Given the description of an element on the screen output the (x, y) to click on. 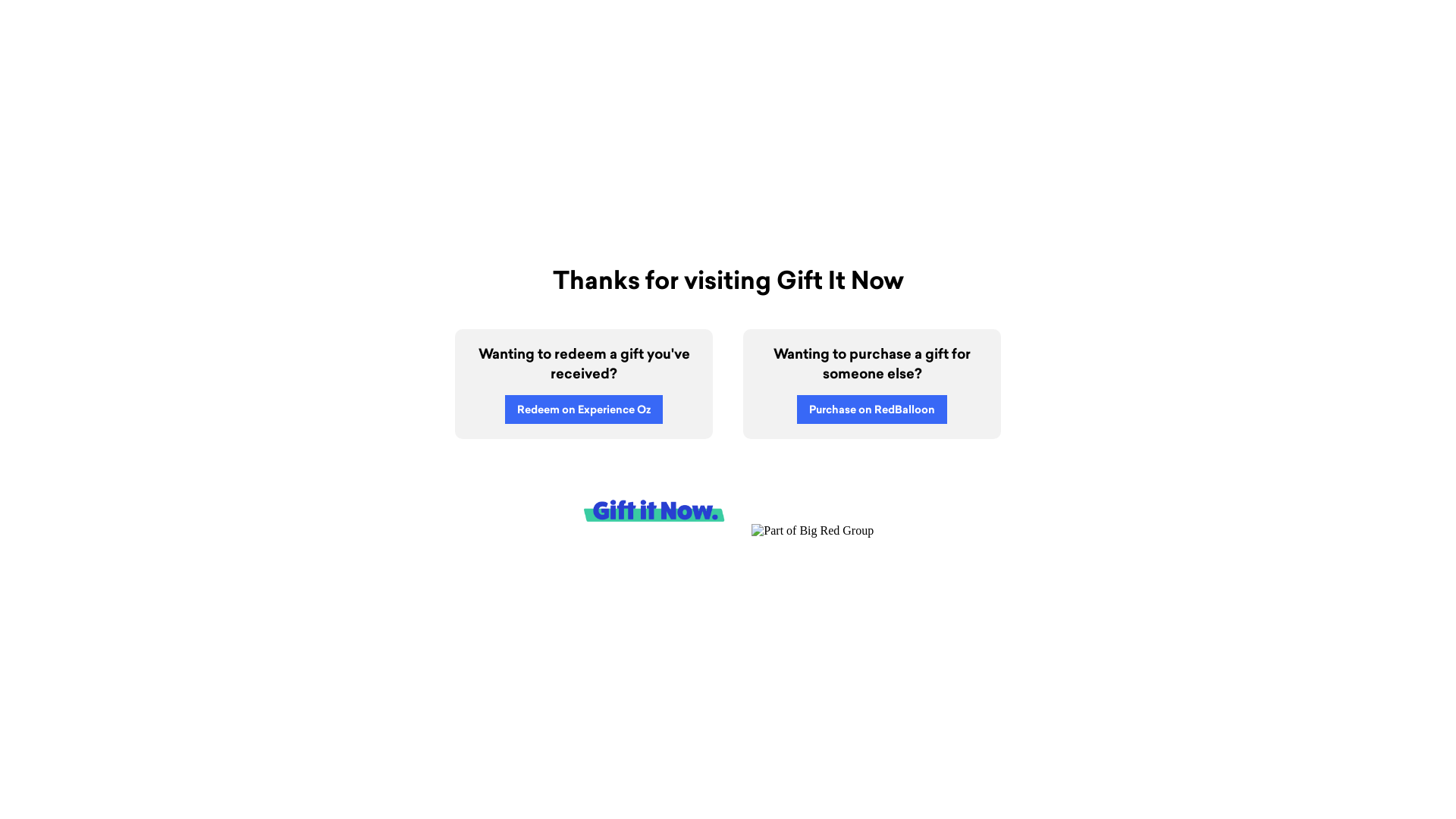
Purchase on RedBalloon Element type: text (872, 409)
Redeem on Experience Oz Element type: text (583, 409)
